Given the description of an element on the screen output the (x, y) to click on. 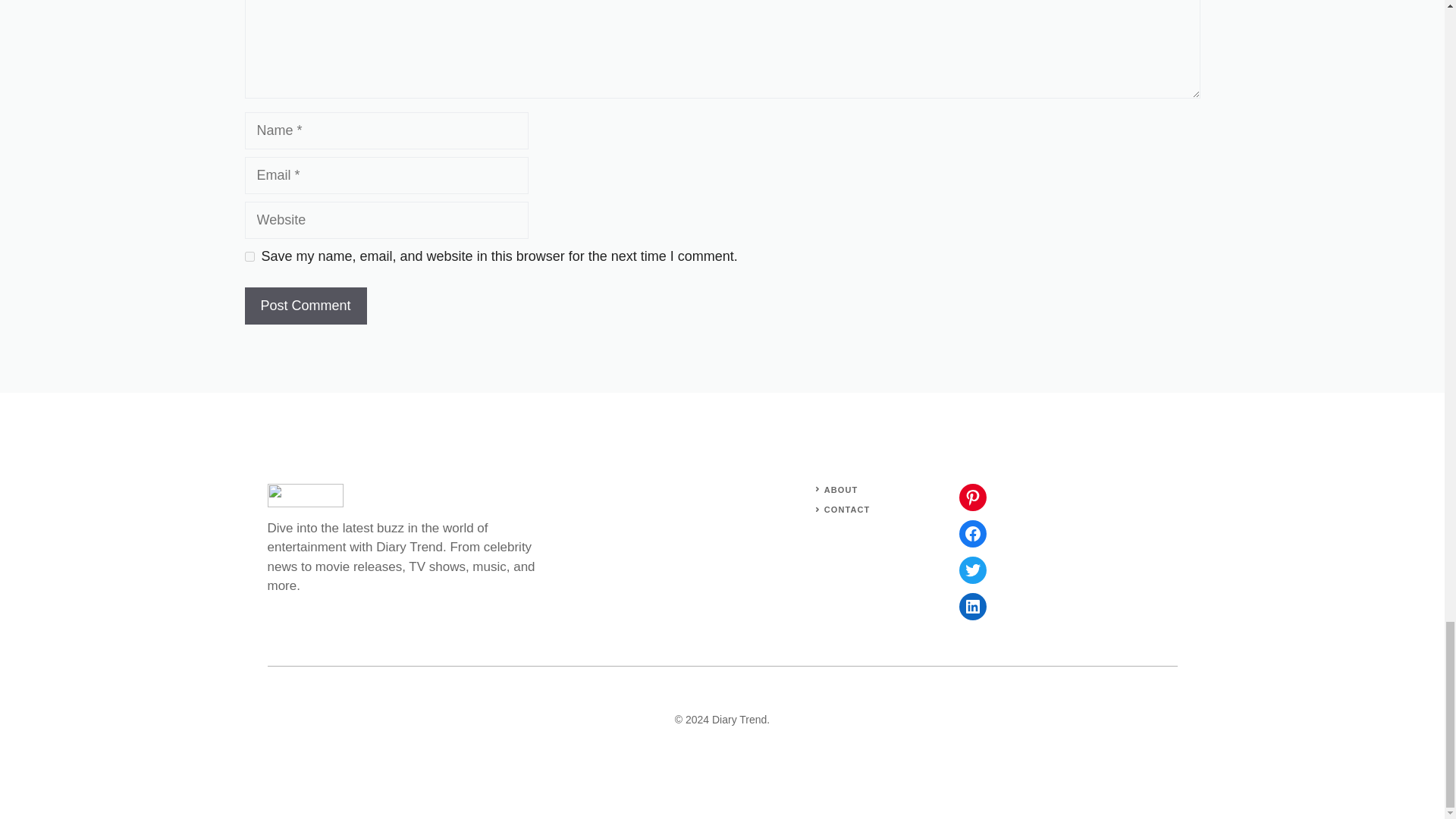
ABOUT (841, 489)
yes (248, 256)
Facebook (971, 533)
CONTACT (847, 509)
Twitter (971, 569)
Post Comment (305, 305)
Post Comment (305, 305)
Pinterest (971, 497)
Diary Trend (739, 719)
LinkedIn (971, 605)
